Given the description of an element on the screen output the (x, y) to click on. 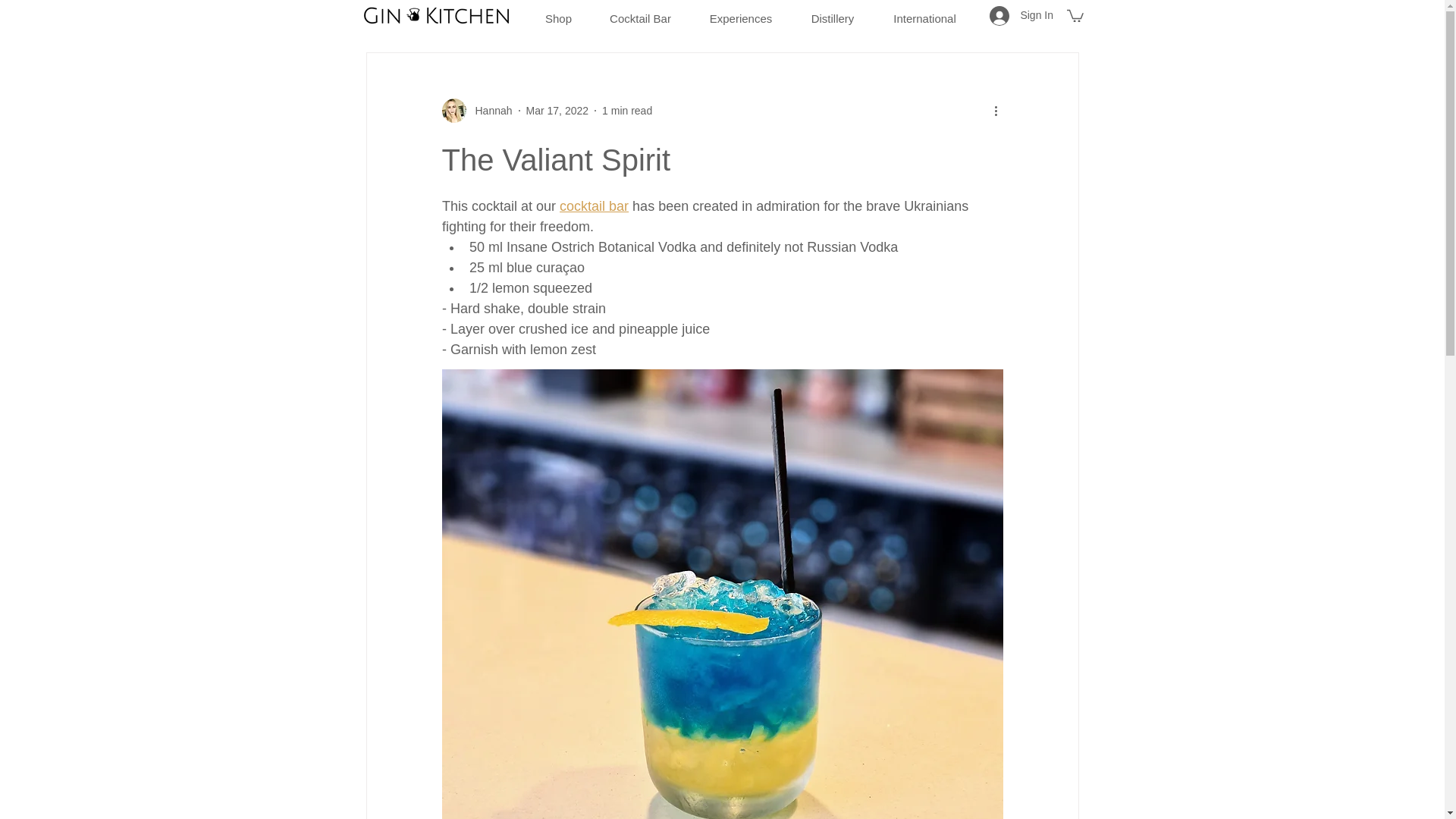
Sign In (1021, 15)
Mar 17, 2022 (557, 110)
Shop (558, 12)
International (924, 12)
Hannah (476, 110)
Hannah (488, 110)
Cocktail Bar (640, 12)
1 min read (627, 110)
Gin Kitchen logo (436, 15)
Experiences (741, 12)
Distillery (832, 12)
